Given the description of an element on the screen output the (x, y) to click on. 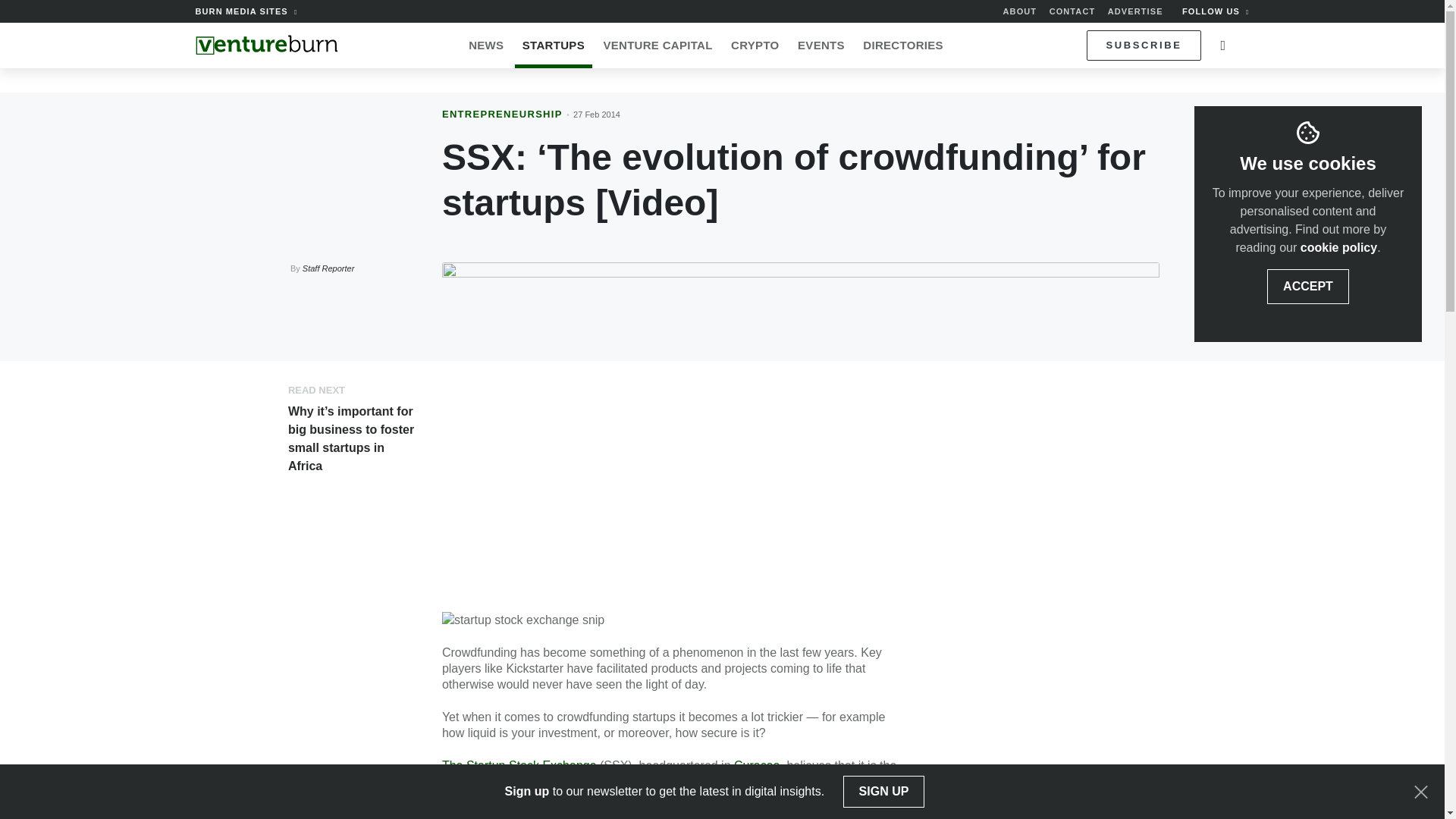
CONTACT (1072, 10)
ABOUT (1019, 10)
ADVERTISE (1135, 10)
BURN MEDIA SITES (246, 10)
FOLLOW US (1215, 10)
